Given the description of an element on the screen output the (x, y) to click on. 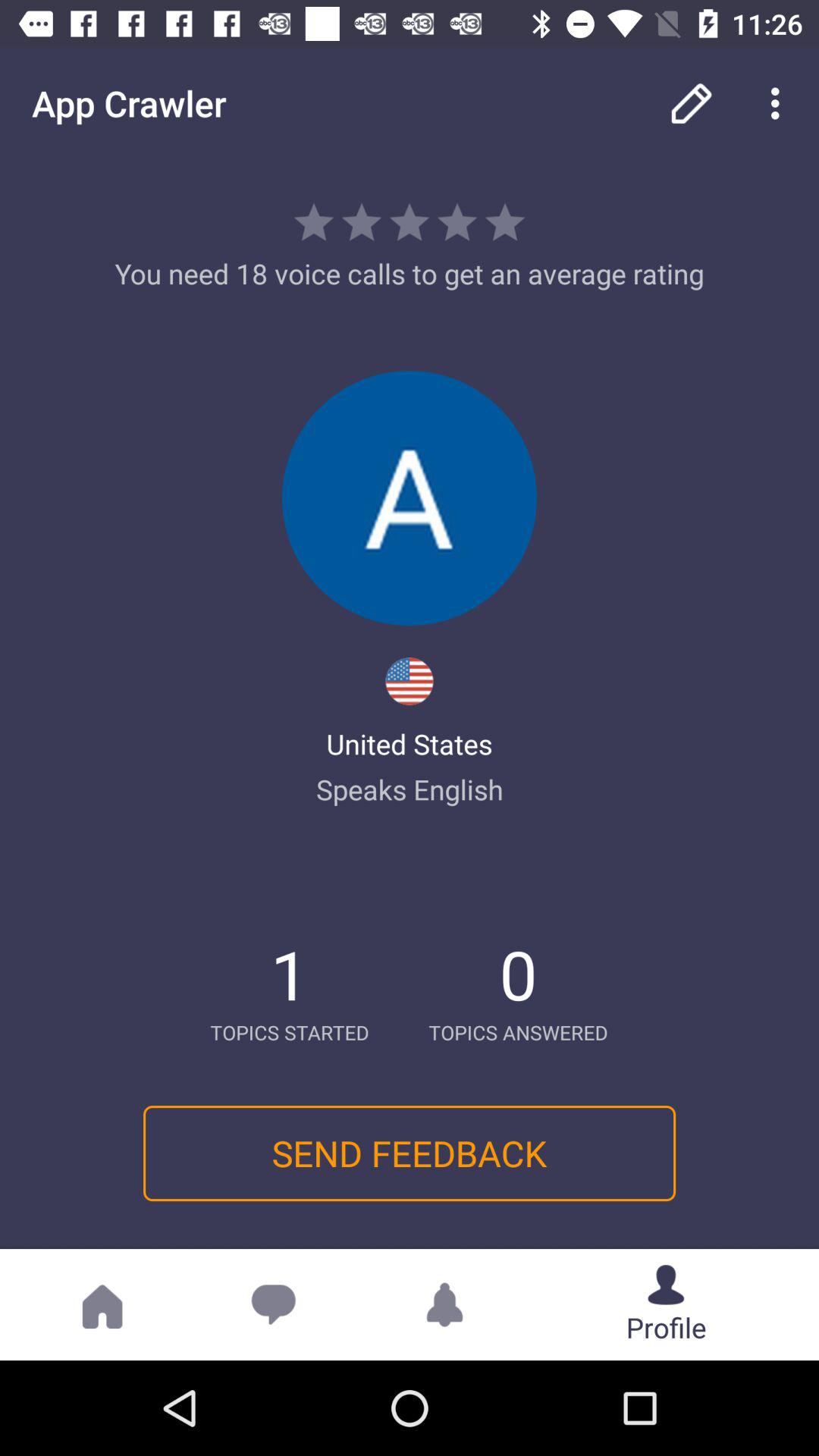
choose the icon above you need 18 icon (691, 103)
